Given the description of an element on the screen output the (x, y) to click on. 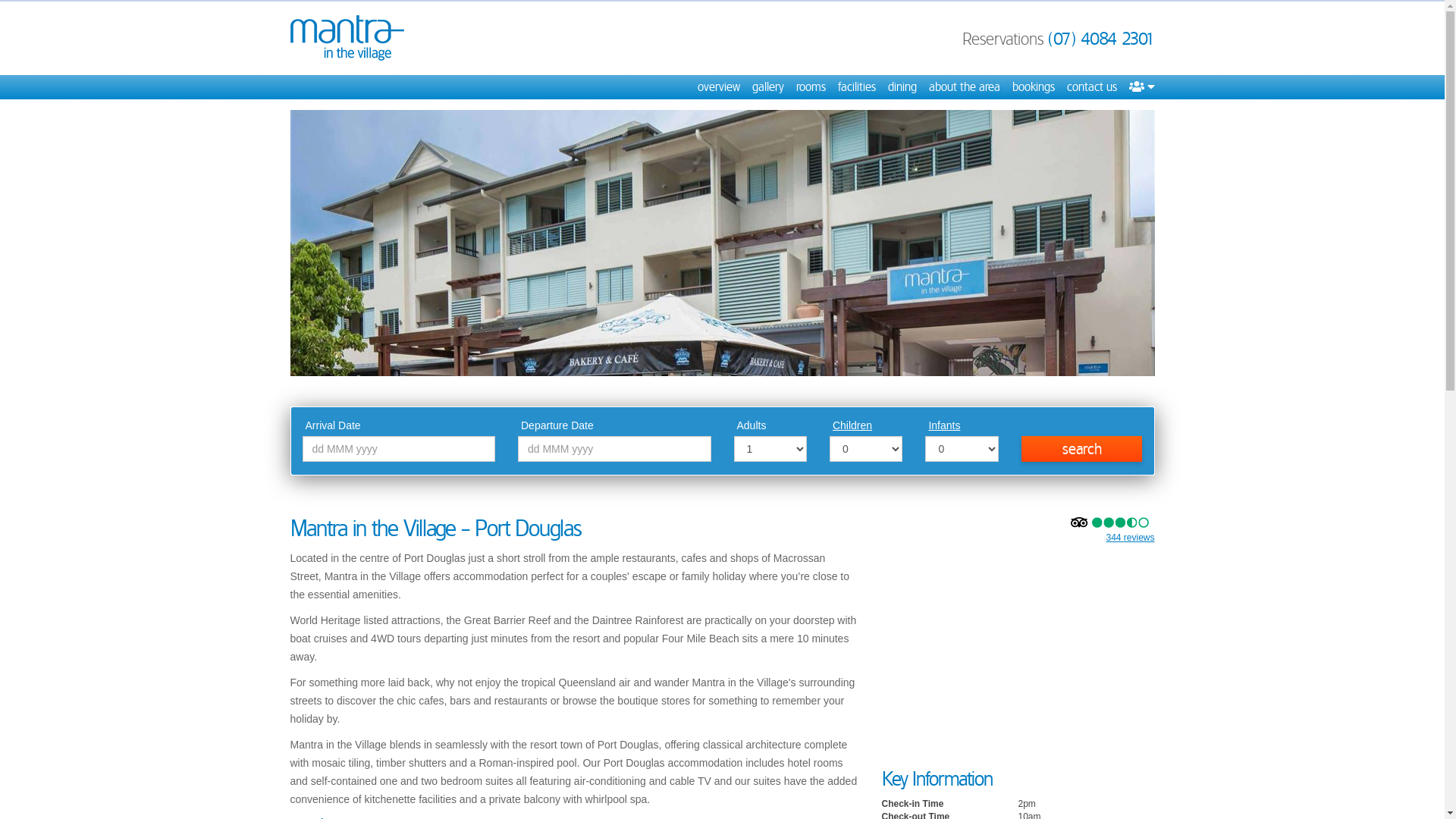
Exterior-Mantra In The Village Element type: hover (721, 242)
search Element type: text (1081, 448)
about the area Element type: text (963, 87)
contact us Element type: text (1091, 87)
rooms Element type: text (810, 87)
dining Element type: text (901, 87)
gallery Element type: text (768, 87)
bookings Element type: text (1032, 87)
facilities Element type: text (856, 87)
Mantra in the Village Element type: hover (346, 37)
(07) 4084 2301 Element type: text (1101, 38)
overview Element type: text (718, 87)
344 reviews Element type: text (1129, 537)
